Given the description of an element on the screen output the (x, y) to click on. 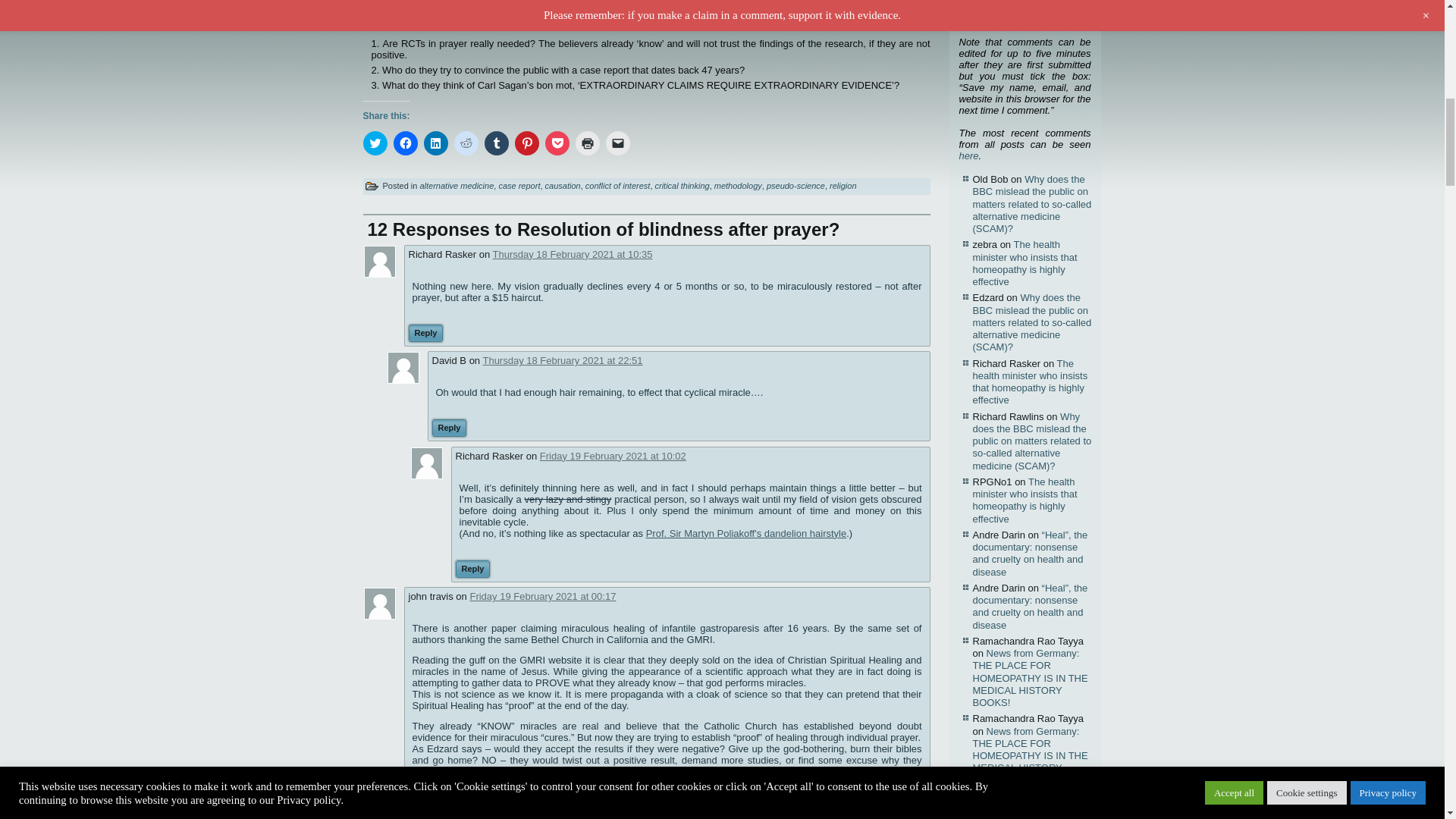
Reply (449, 427)
Thursday 18 February 2021 at 10:35 (572, 254)
Click to share on LinkedIn (434, 143)
case report (518, 185)
methodology (737, 185)
alternative medicine (456, 185)
Thursday 18 February 2021 at 22:51 (561, 360)
pseudo-science (796, 185)
causation (562, 185)
critical thinking (682, 185)
religion (842, 185)
Reply (424, 333)
Click to share on Reddit (464, 143)
Click to share on Twitter (374, 143)
Friday 19 February 2021 at 10:02 (612, 455)
